Given the description of an element on the screen output the (x, y) to click on. 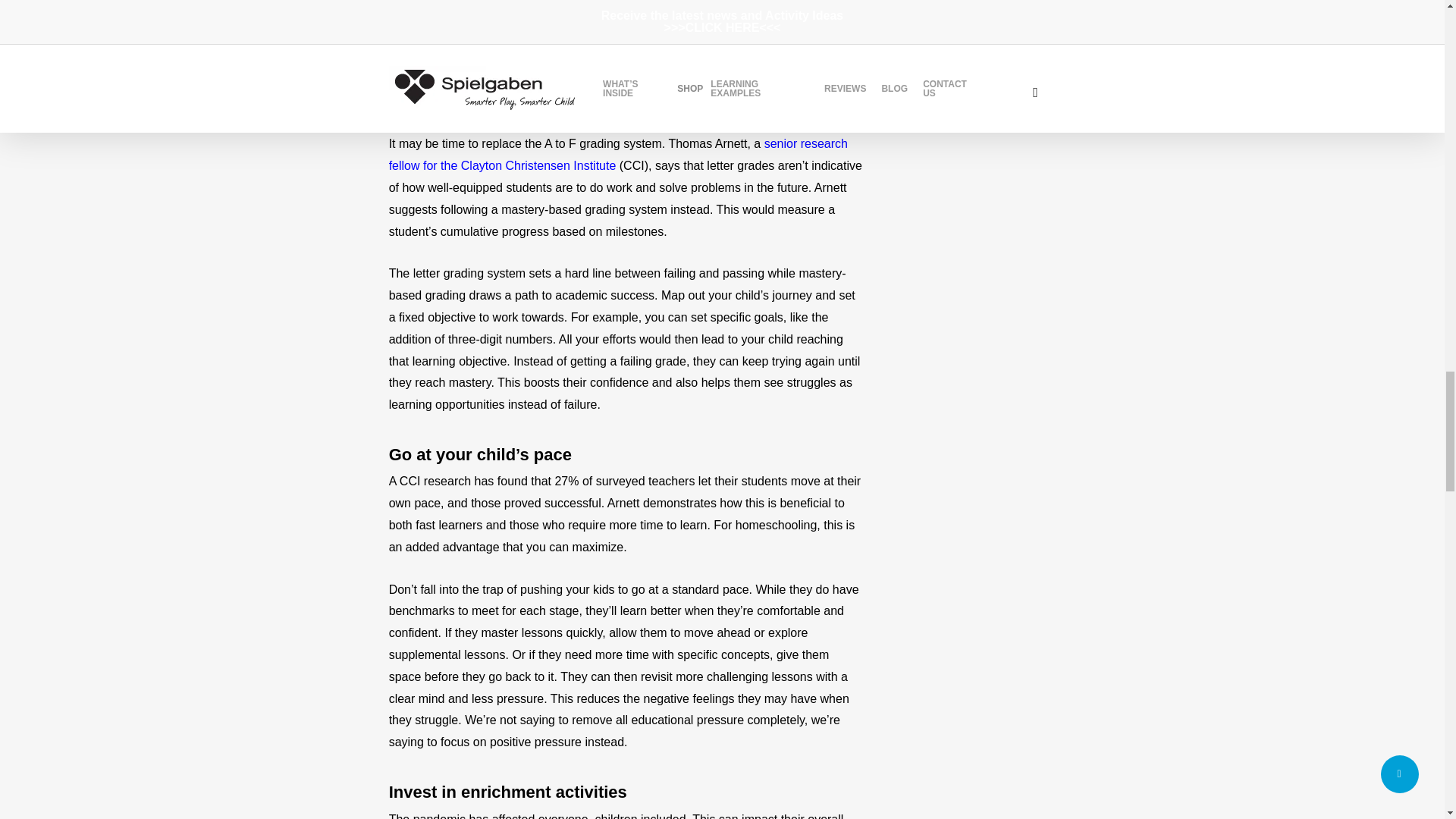
senior research fellow for the Clayton Christensen Institute (617, 154)
